Given the description of an element on the screen output the (x, y) to click on. 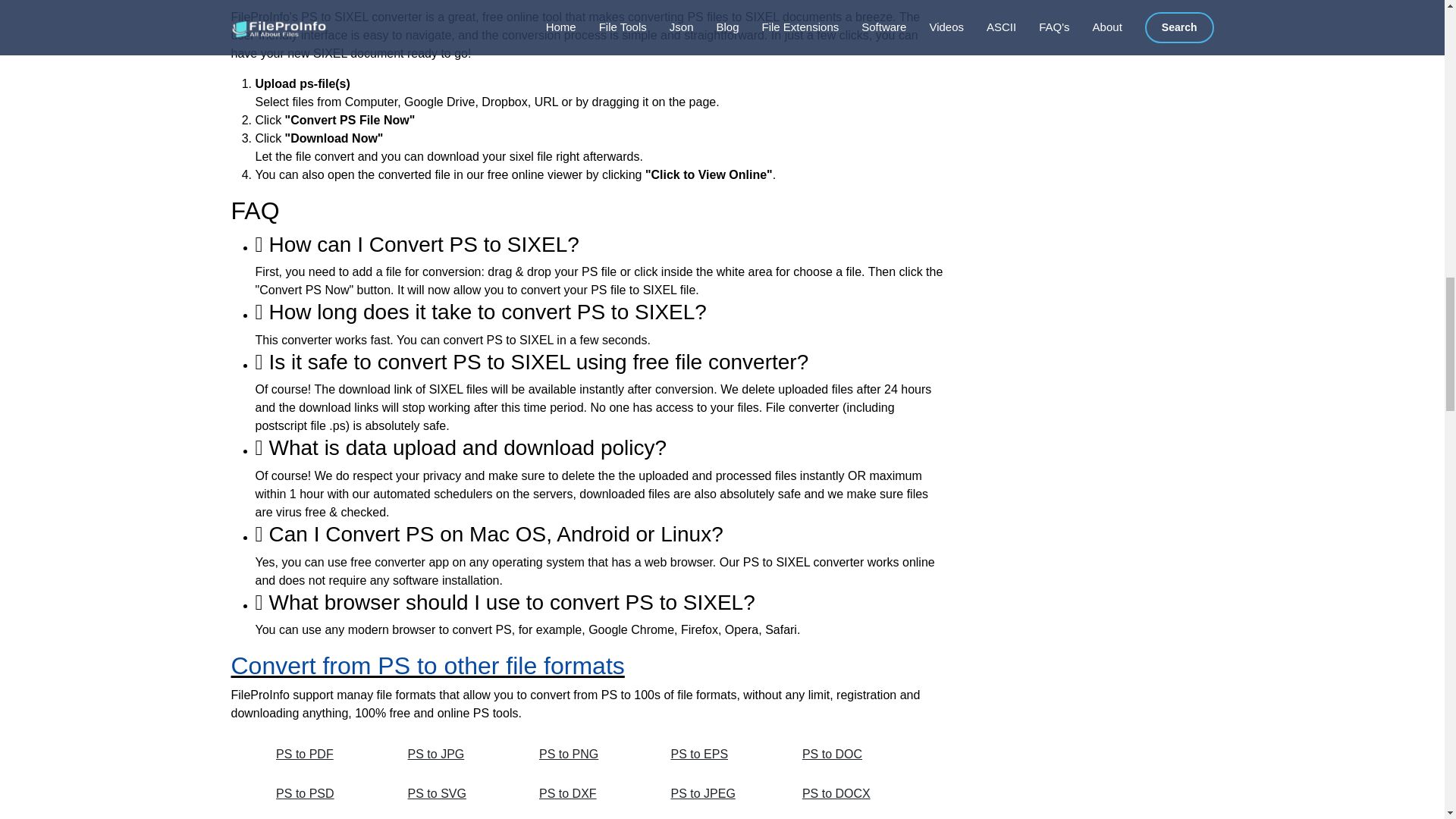
PS to PSD (325, 793)
PS to JPG (456, 754)
PS to PNG (587, 754)
Convert from PS to other file formats (427, 665)
PS to DOC (851, 754)
PS to EPS (719, 754)
PS to PDF (325, 754)
